Given the description of an element on the screen output the (x, y) to click on. 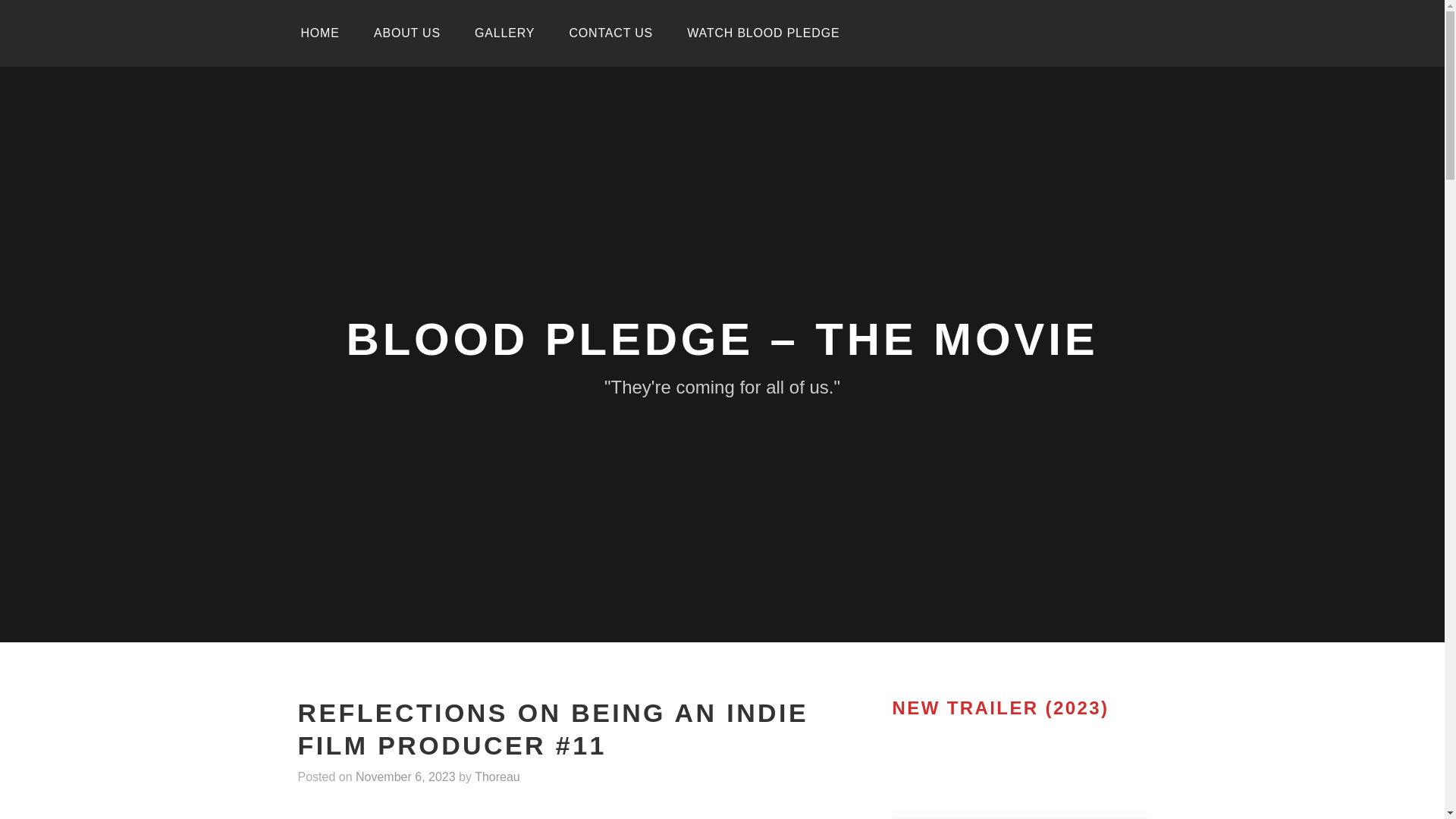
HOME (319, 33)
November 6, 2023 (405, 777)
GALLERY (505, 33)
ABOUT US (406, 33)
Thoreau (496, 777)
WATCH BLOOD PLEDGE (762, 33)
CONTACT US (610, 33)
